Given the description of an element on the screen output the (x, y) to click on. 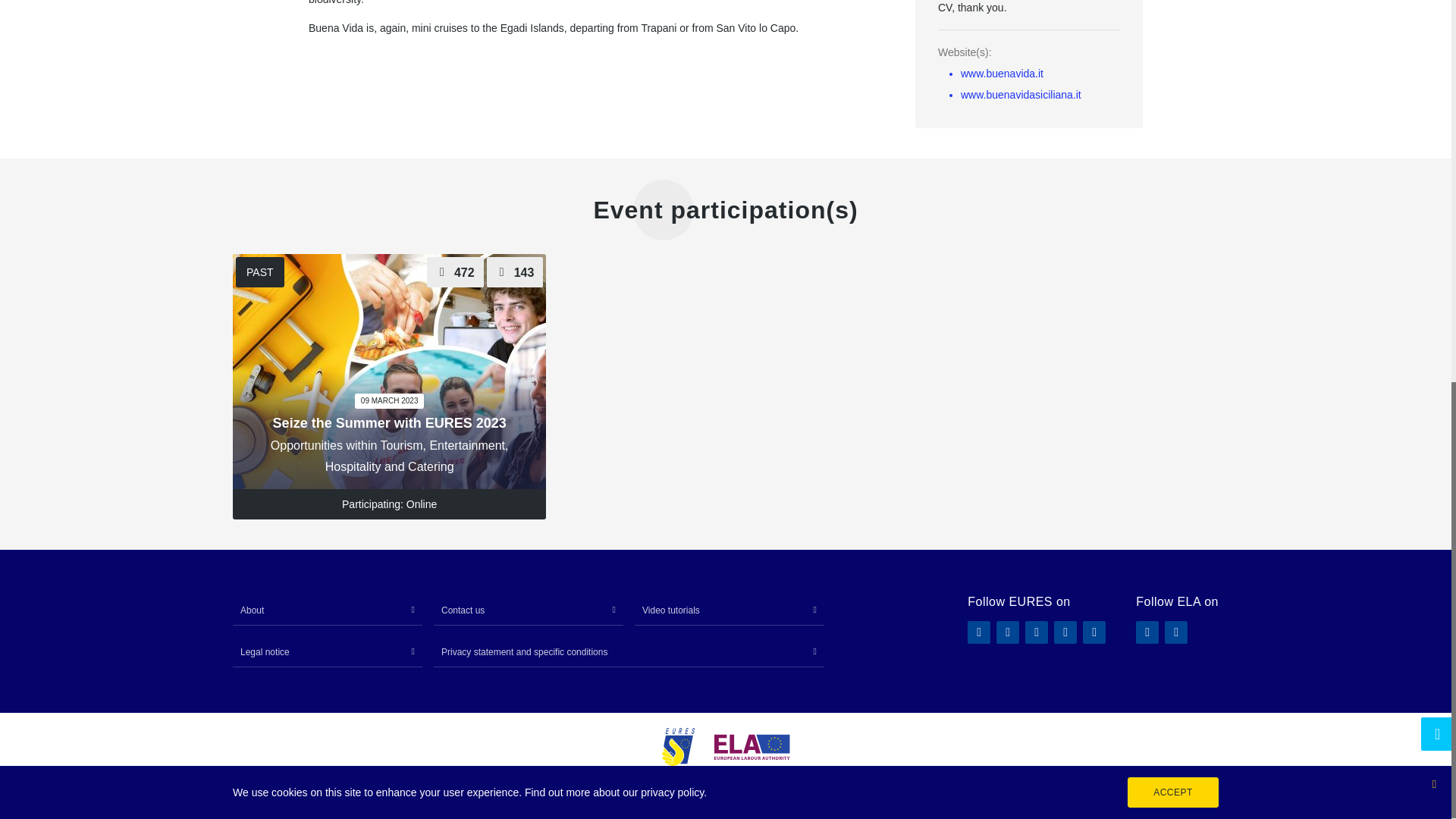
472 jobs available for this event (454, 272)
EURES on LinkedIn (1036, 631)
EURES on Facebook (979, 631)
EURES on X (1065, 631)
EURES on YouTube (1094, 631)
143 employers participating in this event (514, 272)
European Labour Authority (752, 746)
ELA on LinkedIn (1146, 631)
Close (1433, 65)
ELA on X (1176, 631)
